Given the description of an element on the screen output the (x, y) to click on. 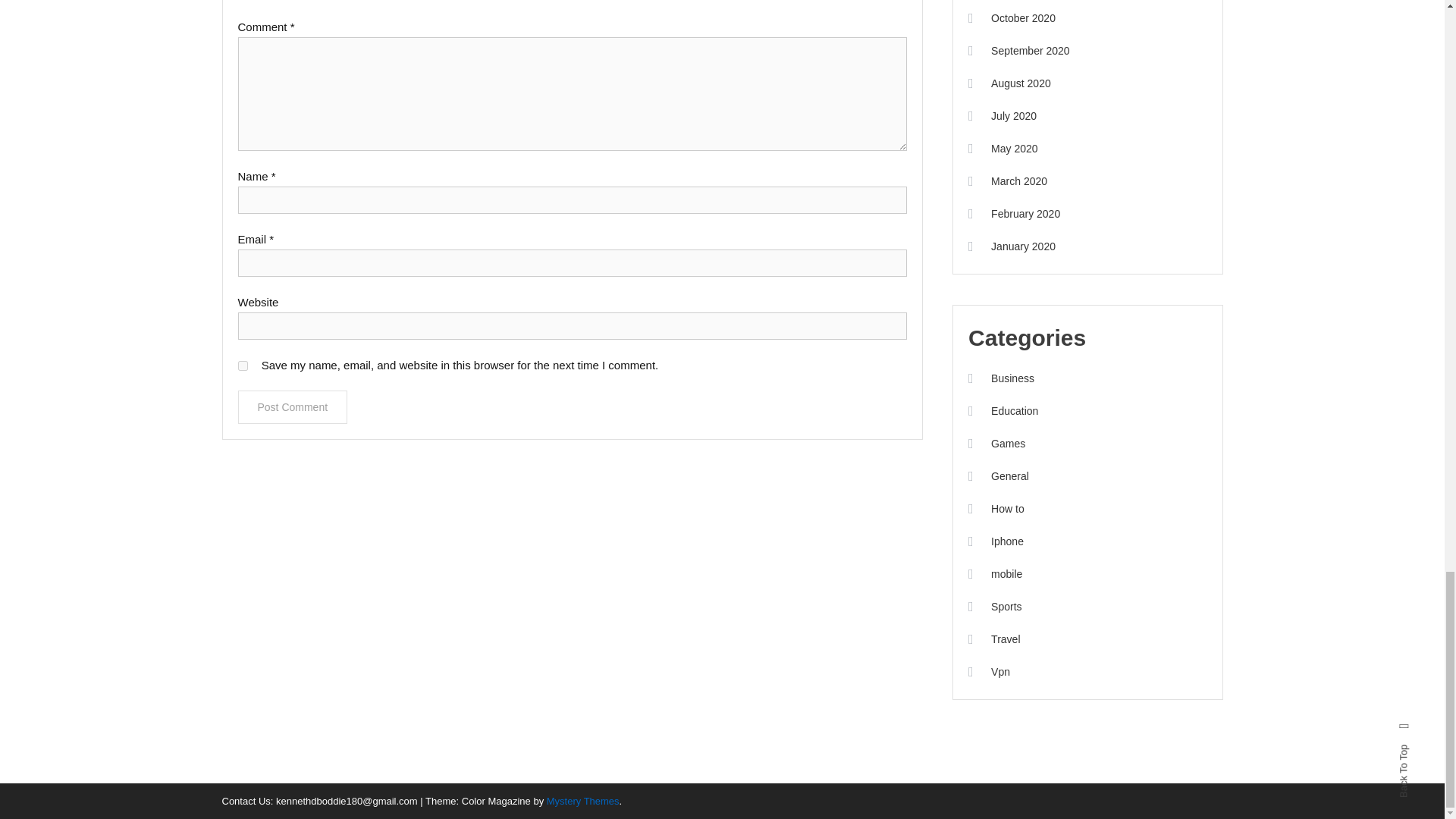
yes (242, 366)
Post Comment (292, 407)
